Given the description of an element on the screen output the (x, y) to click on. 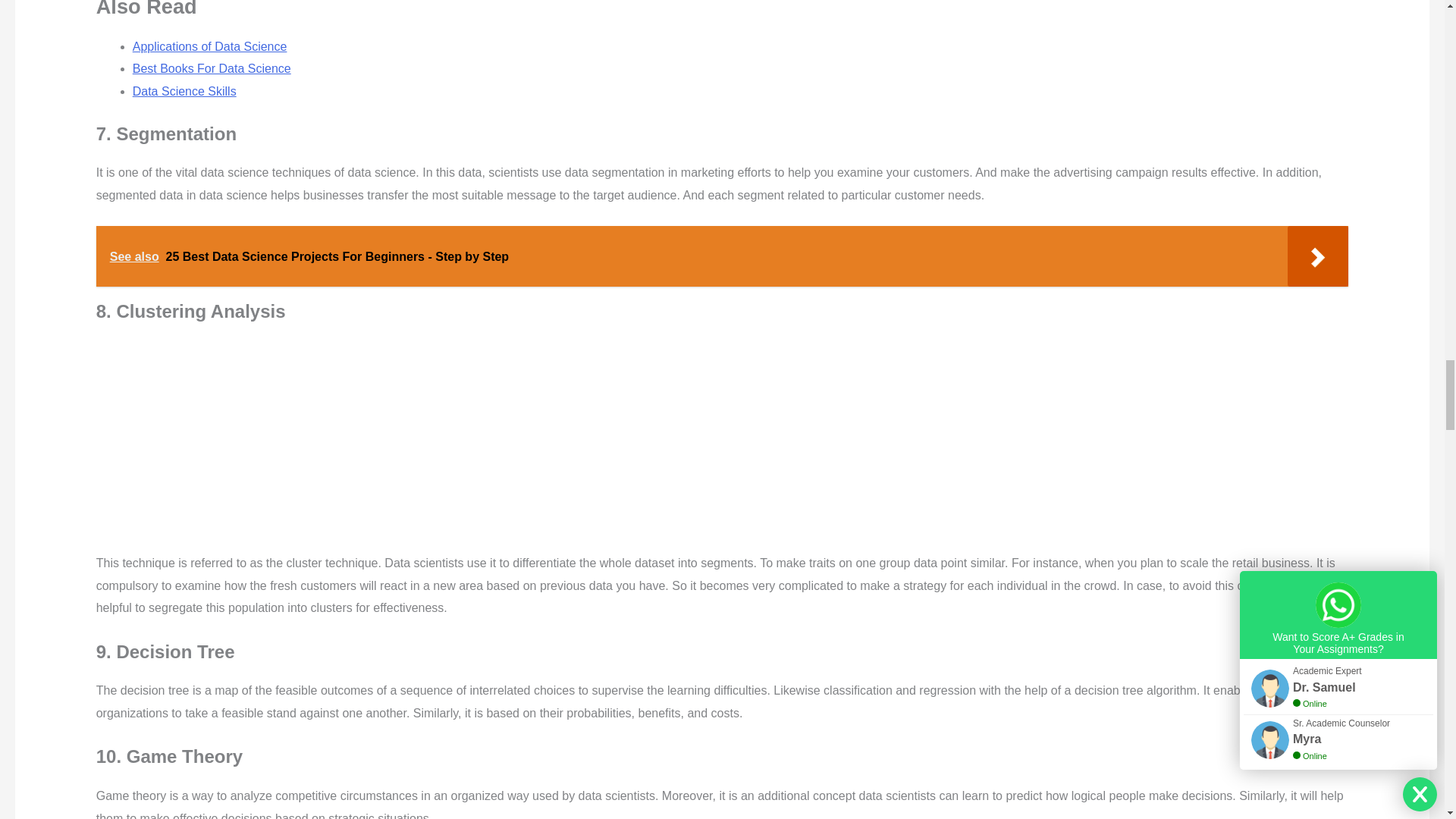
Data Science Skills (183, 91)
Applications of Data Science (209, 46)
Best Books For Data Science (211, 68)
